Given the description of an element on the screen output the (x, y) to click on. 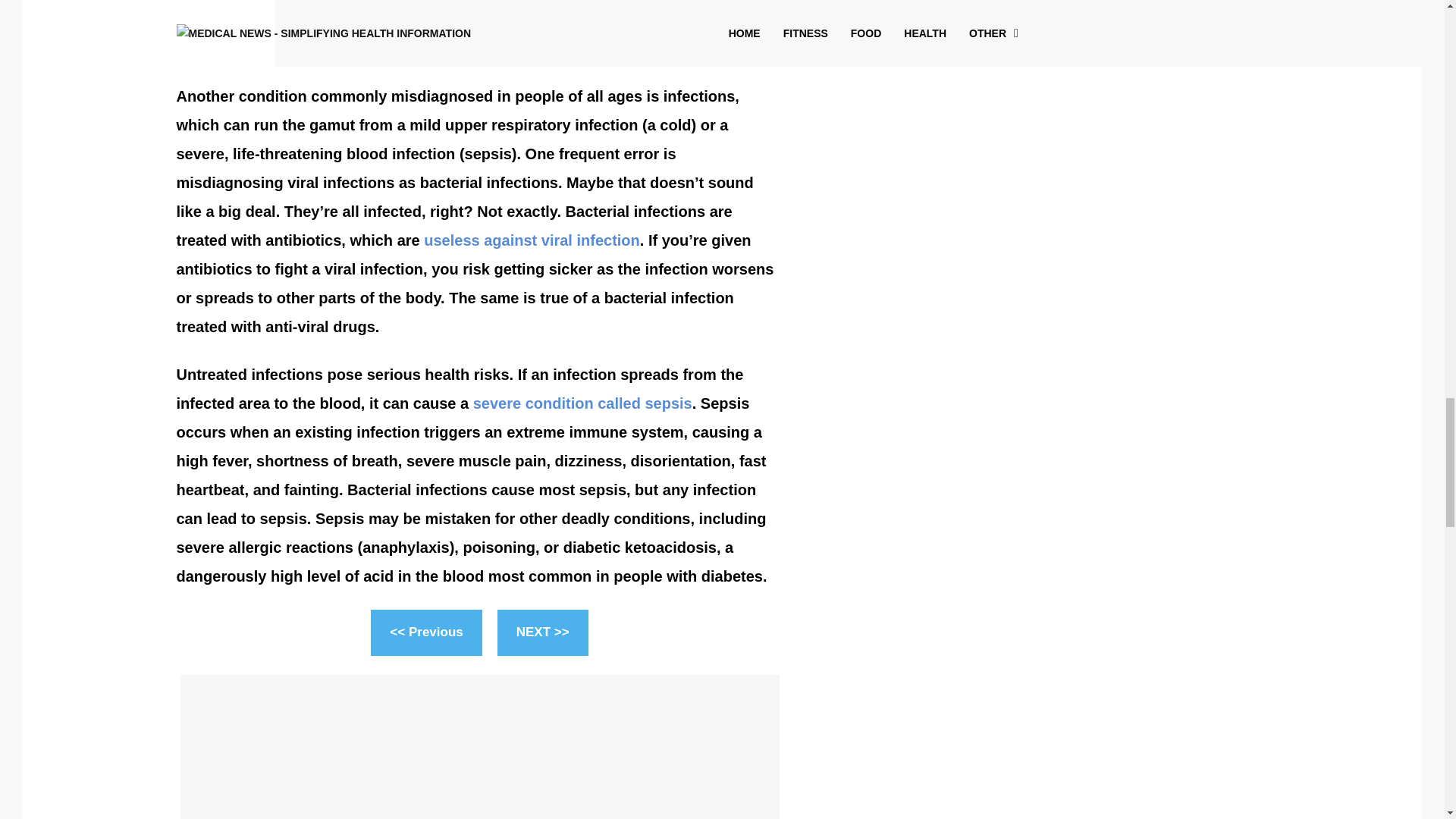
severe condition called sepsis (583, 402)
useless against viral infection (531, 239)
